Given the description of an element on the screen output the (x, y) to click on. 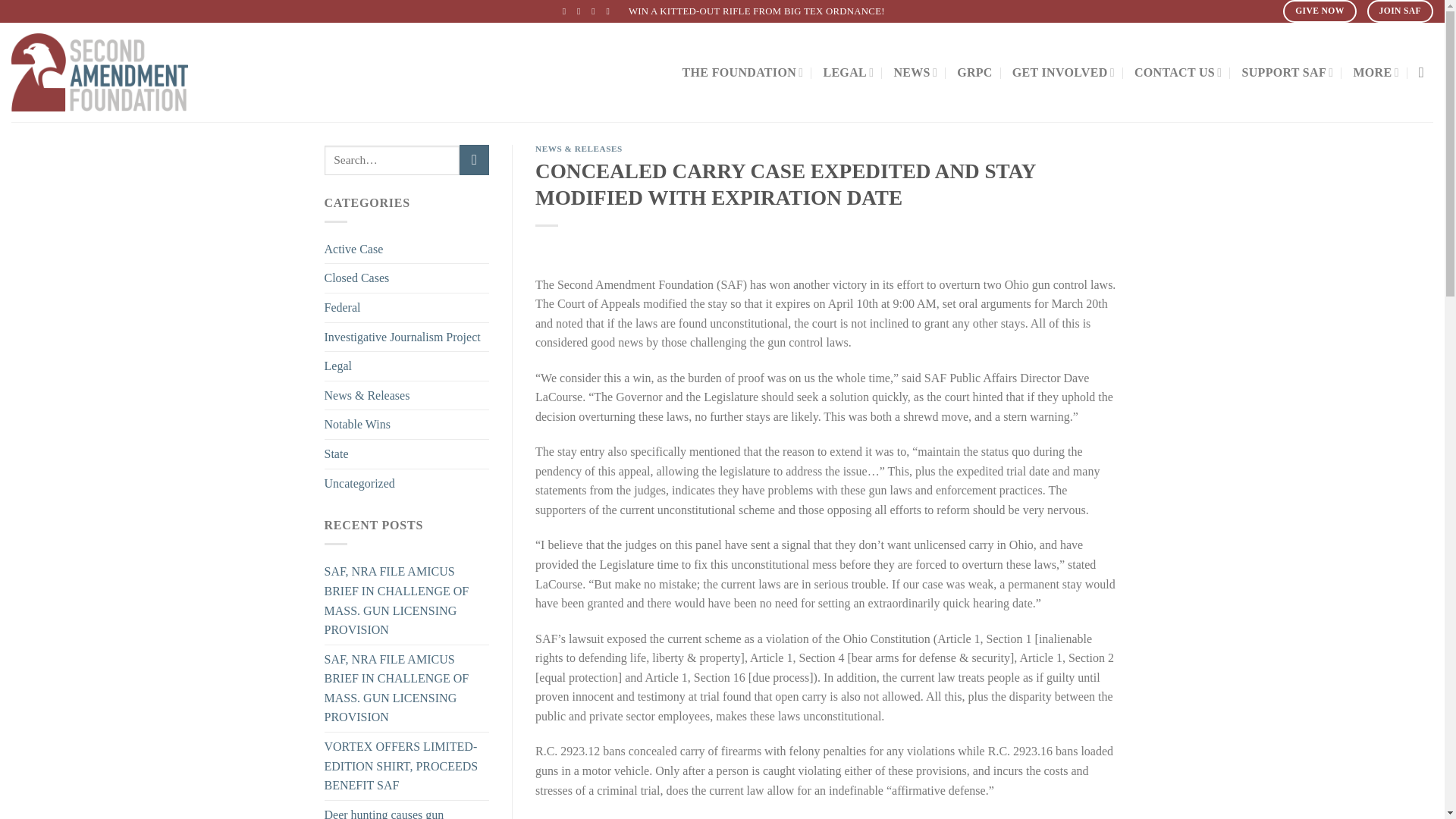
WIN A KITTED-OUT RIFLE FROM BIG TEX ORDNANCE! (756, 11)
JOIN SAF (1399, 11)
GET INVOLVED (1063, 71)
CONTACT US (1178, 71)
THE FOUNDATION (742, 71)
GRPC (974, 72)
LEGAL (847, 71)
Second Amendment Foundation (140, 72)
NEWS (915, 71)
SUPPORT SAF (1287, 71)
